Given the description of an element on the screen output the (x, y) to click on. 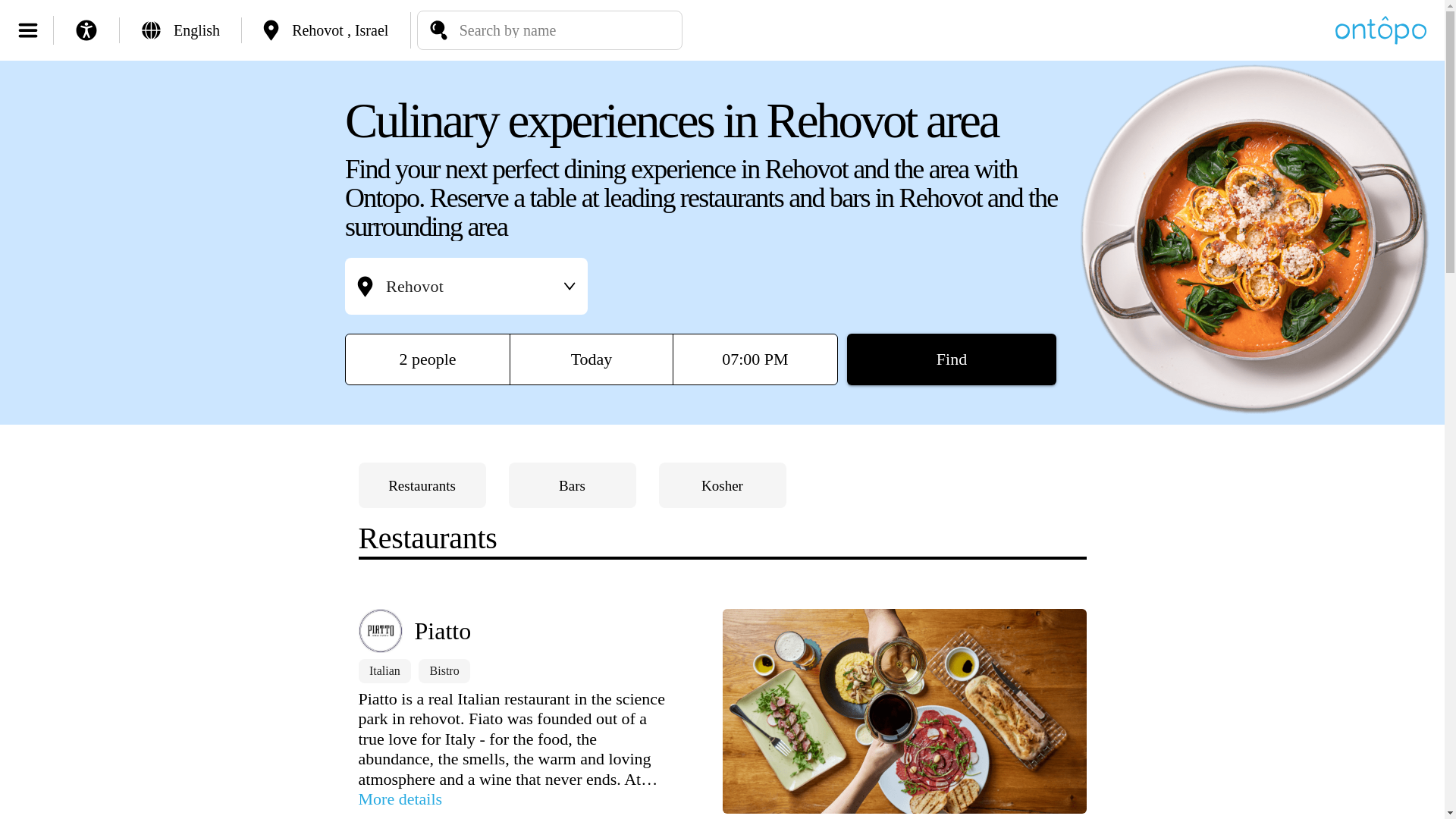
Find (952, 358)
Kosher (722, 484)
Today (590, 359)
Restaurants (421, 484)
Piatto (540, 630)
07:00 PM (754, 359)
Bars (571, 484)
2 people (427, 359)
